Given the description of an element on the screen output the (x, y) to click on. 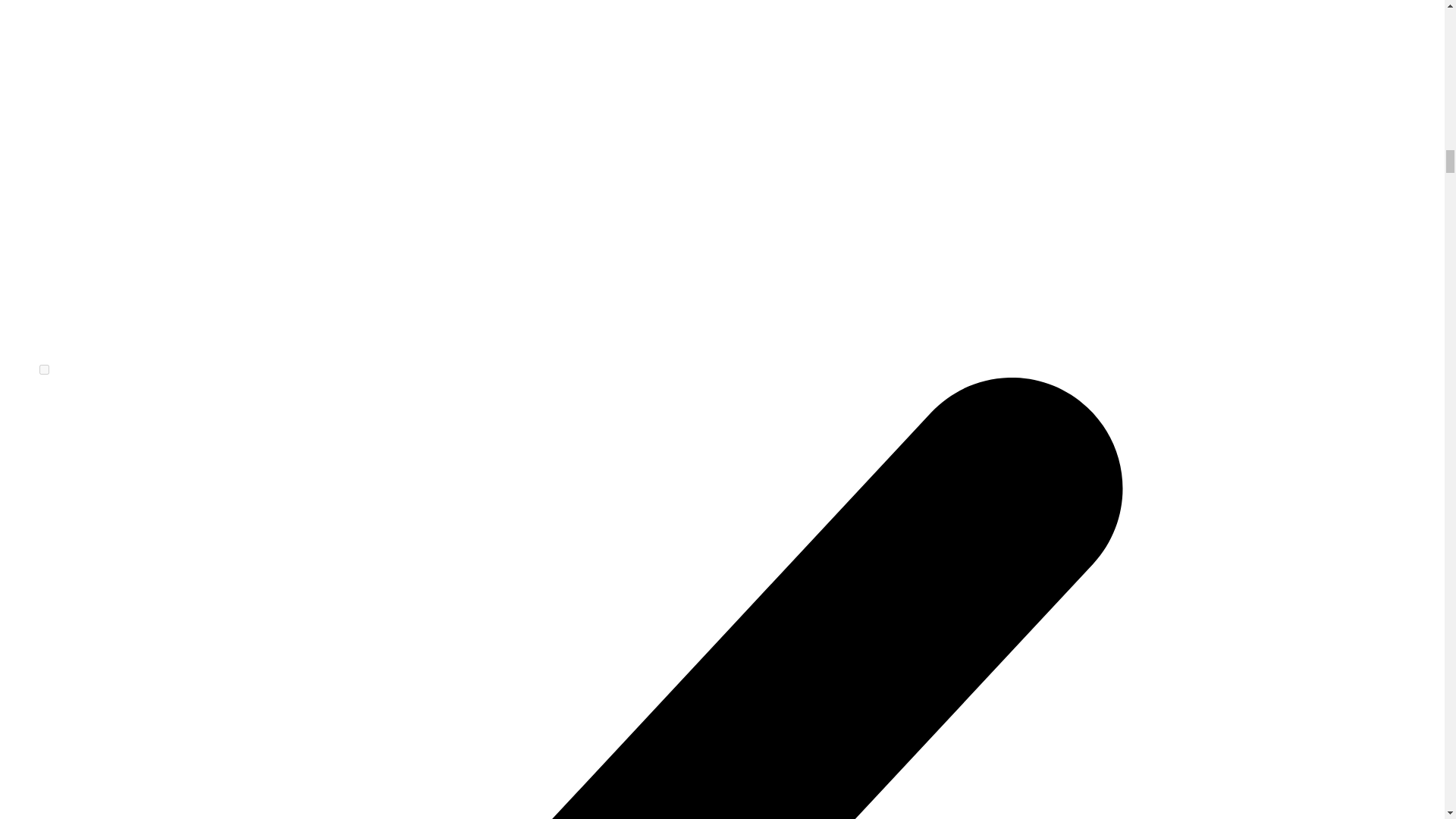
on (44, 369)
